Given the description of an element on the screen output the (x, y) to click on. 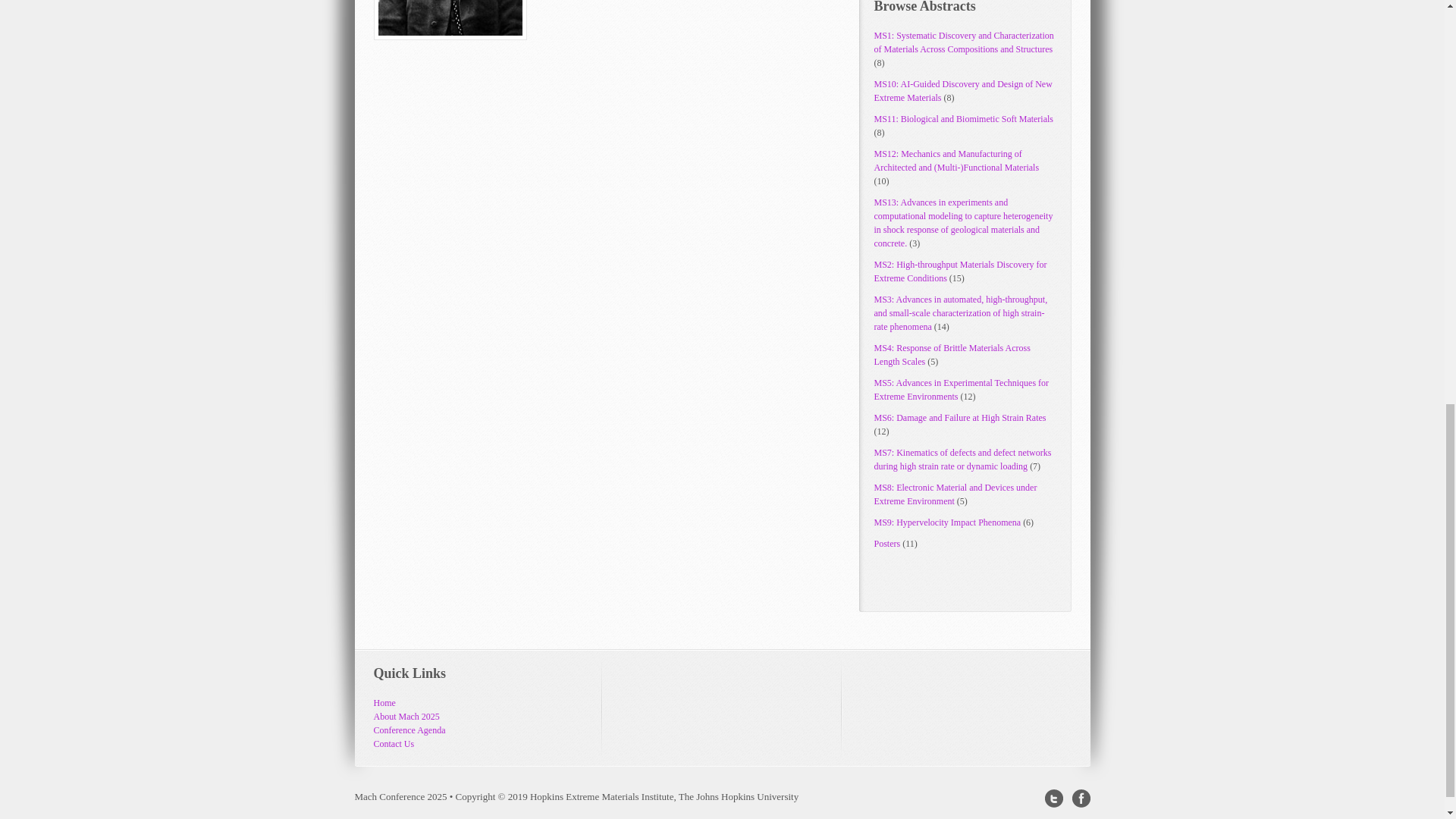
MS4: Response of Brittle Materials Across Length Scales (951, 354)
MS9: Hypervelocity Impact Phenomena (946, 521)
About Mach 2025 (405, 716)
Home (383, 702)
Conference Agenda (408, 729)
Posters (886, 543)
Contact Us (392, 743)
MS6: Damage and Failure at High Strain Rates (959, 417)
